Given the description of an element on the screen output the (x, y) to click on. 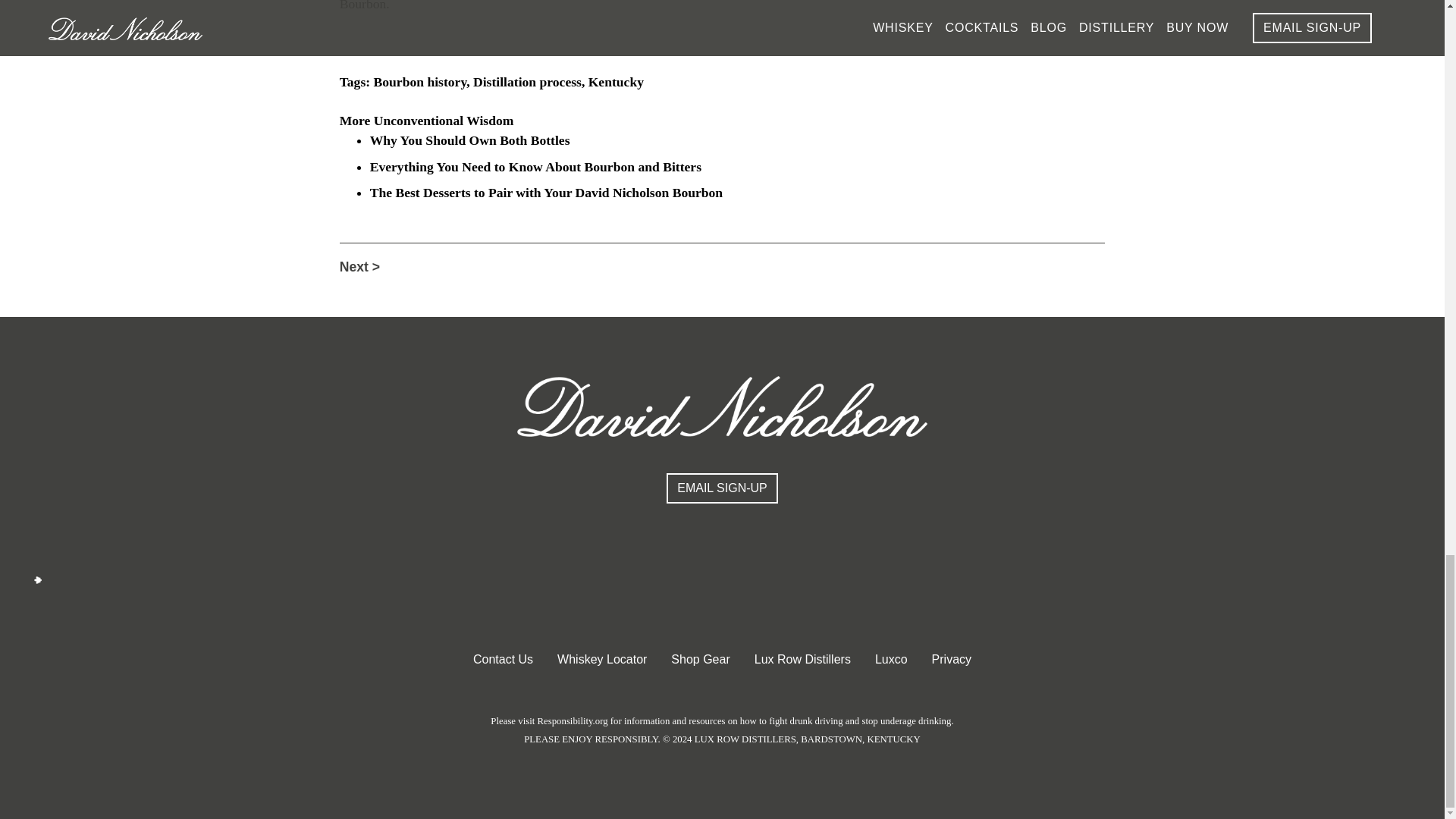
Distillation process (526, 81)
Bourbon history (420, 81)
Kentucky (615, 81)
Why You Should Own Both Bottles (469, 140)
Everything You Need to Know About Bourbon and Bitters (535, 166)
